Given the description of an element on the screen output the (x, y) to click on. 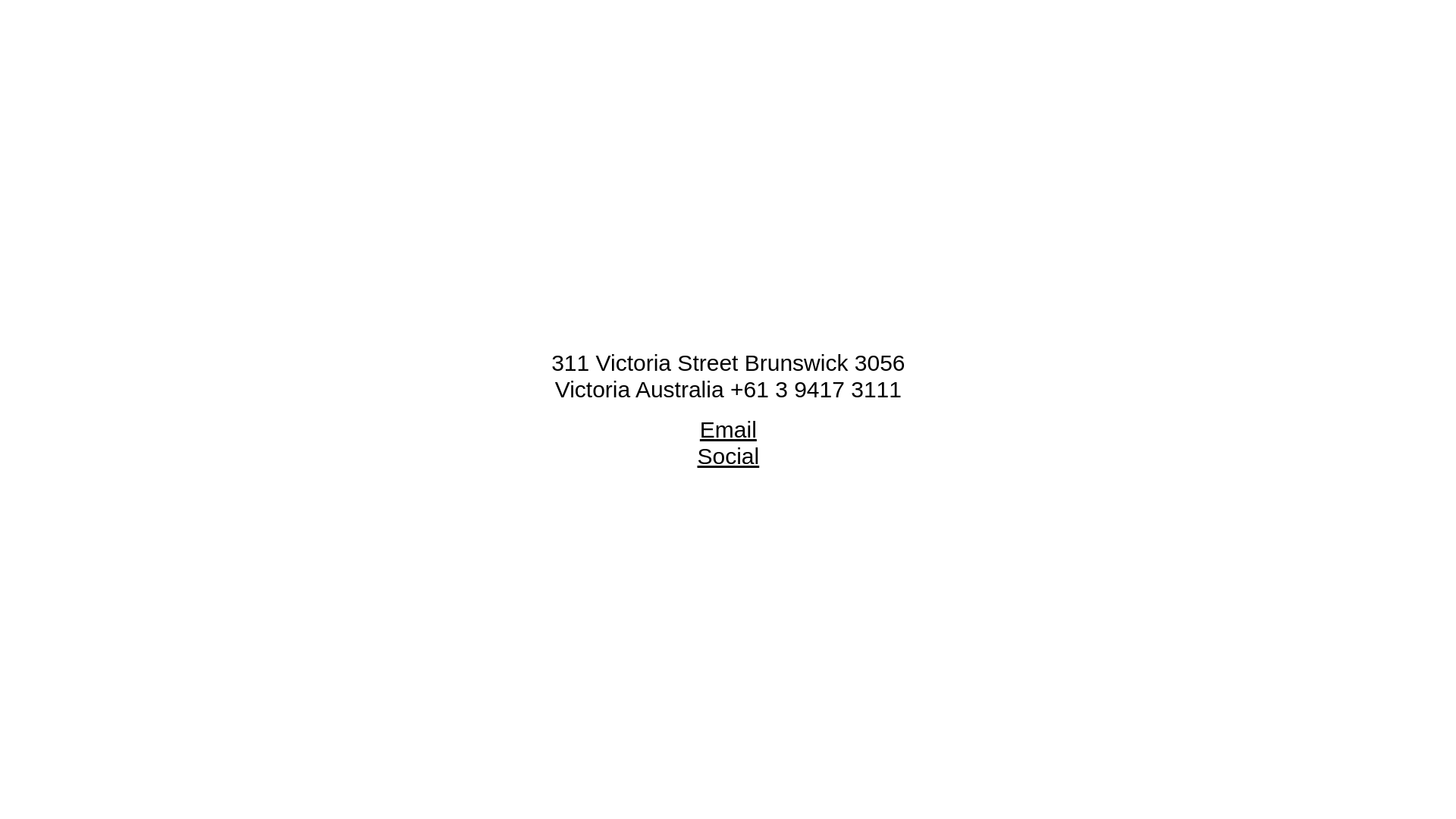
Social Element type: text (727, 455)
Email Element type: text (727, 429)
+61 3 9417 3111 Element type: text (815, 389)
